Given the description of an element on the screen output the (x, y) to click on. 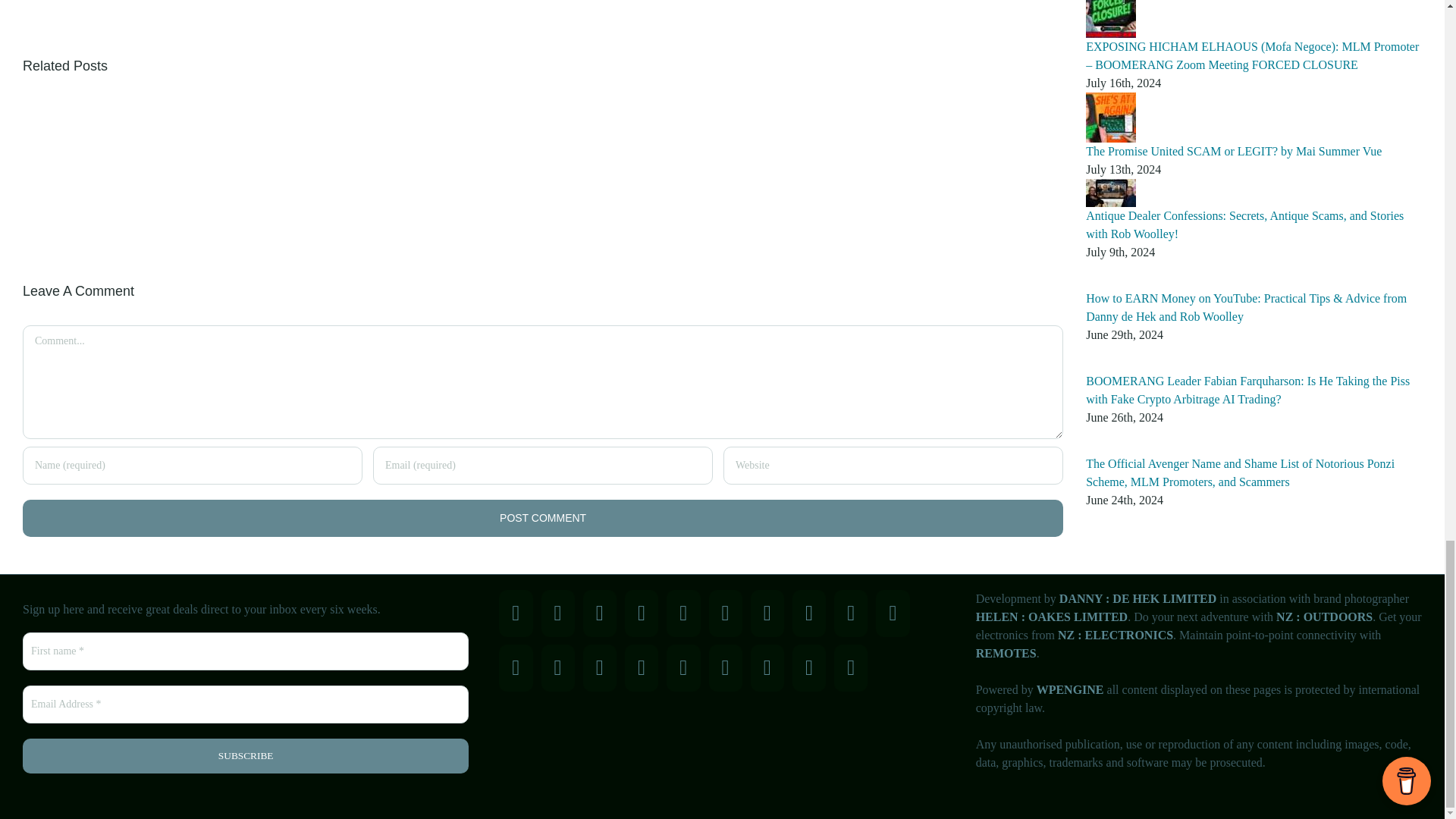
SUBSCRIBE (245, 755)
Post Comment (542, 518)
